Given the description of an element on the screen output the (x, y) to click on. 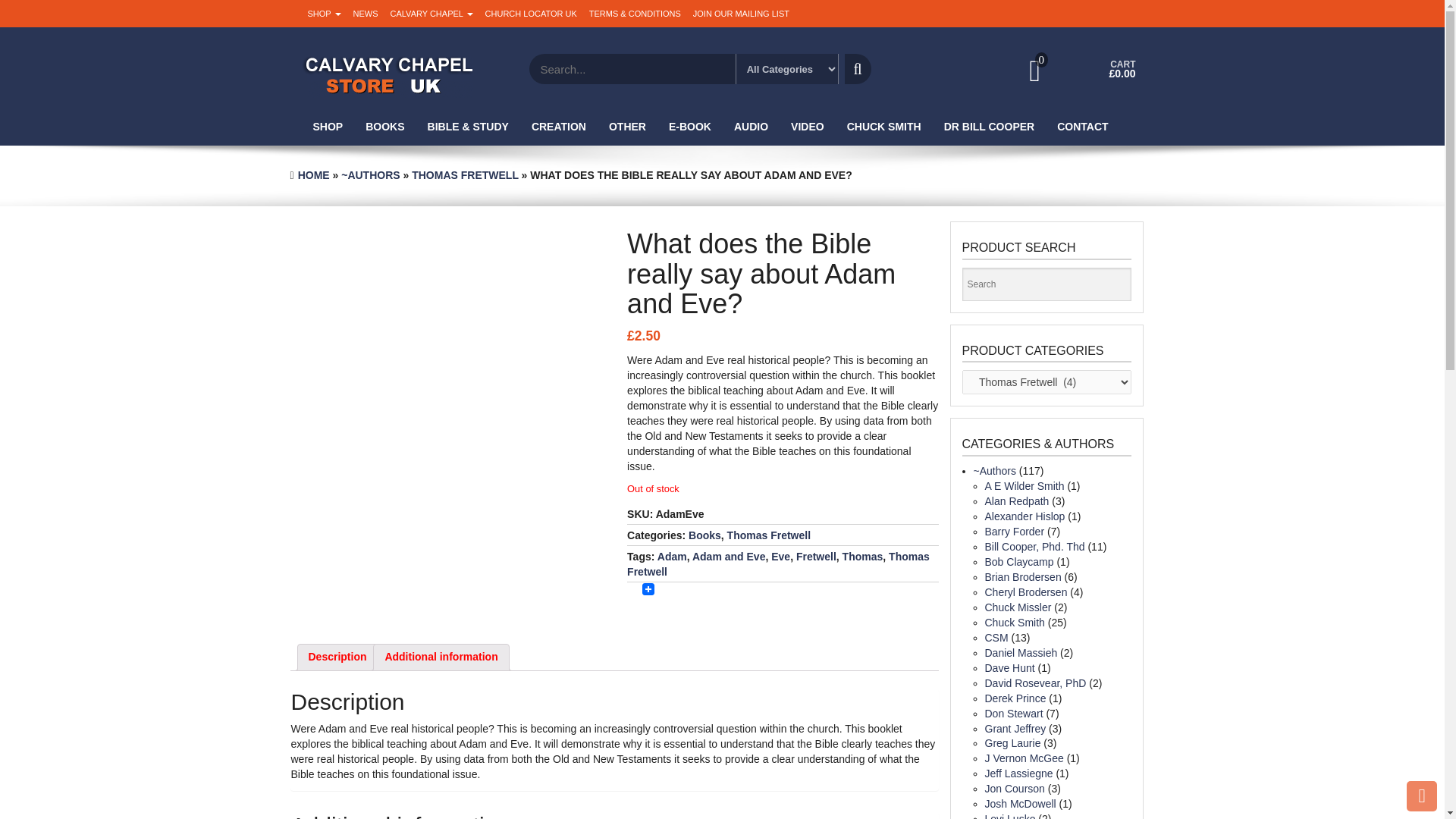
CHUCK SMITH (884, 126)
CHURCH LOCATOR UK (531, 13)
Shop (324, 13)
E-BOOK (690, 126)
VIDEO (806, 126)
SHOP (324, 13)
SHOP (328, 126)
NEWS (365, 13)
BOOKS (383, 126)
JOIN OUR MAILING LIST (740, 13)
